Given the description of an element on the screen output the (x, y) to click on. 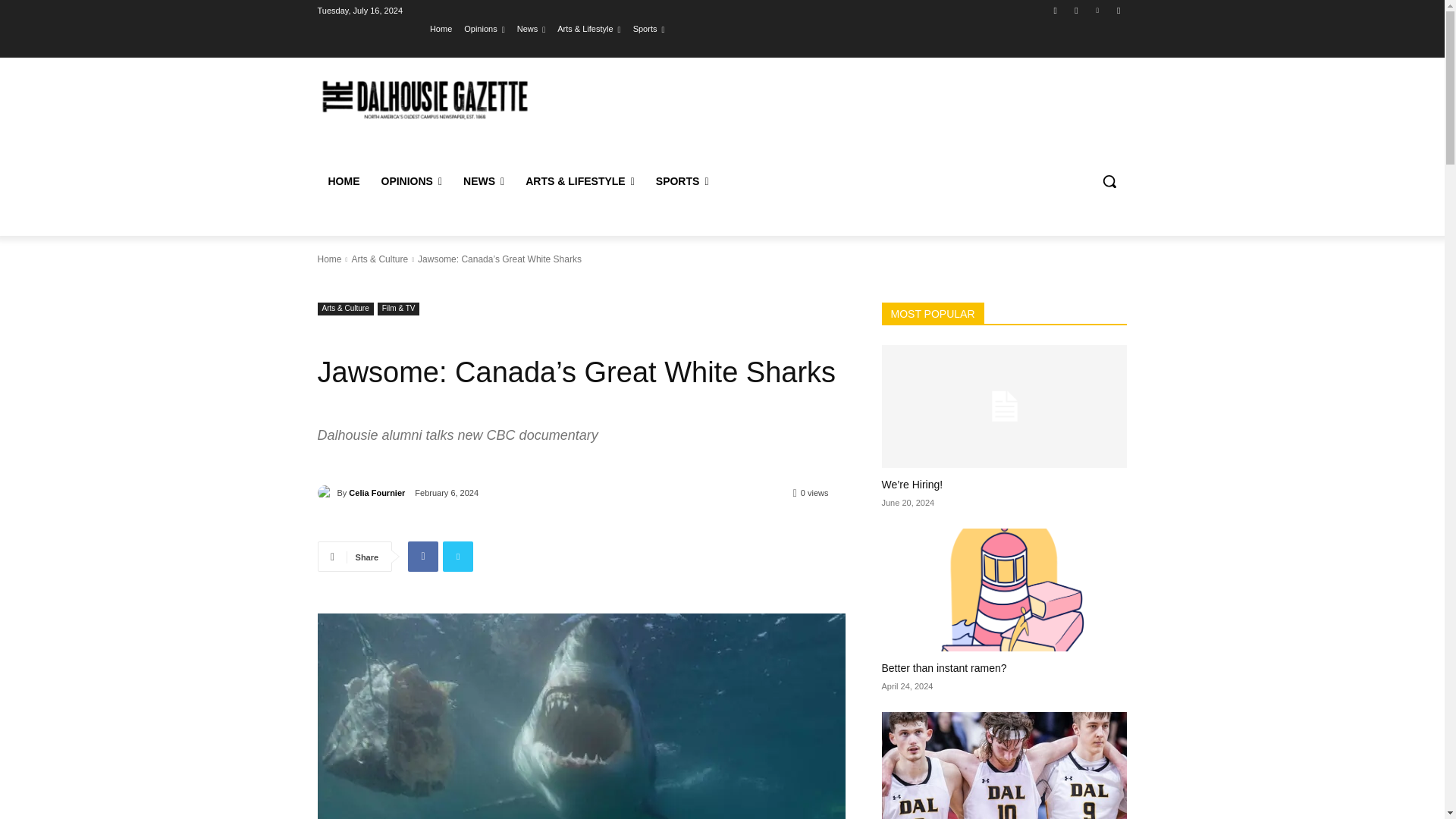
Facebook (1055, 9)
Celia Fournier (326, 492)
Facebook (422, 556)
Home (440, 28)
Twitter (1097, 9)
Youtube (1117, 9)
Instagram (1075, 9)
Opinions (483, 28)
Twitter (457, 556)
